Given the description of an element on the screen output the (x, y) to click on. 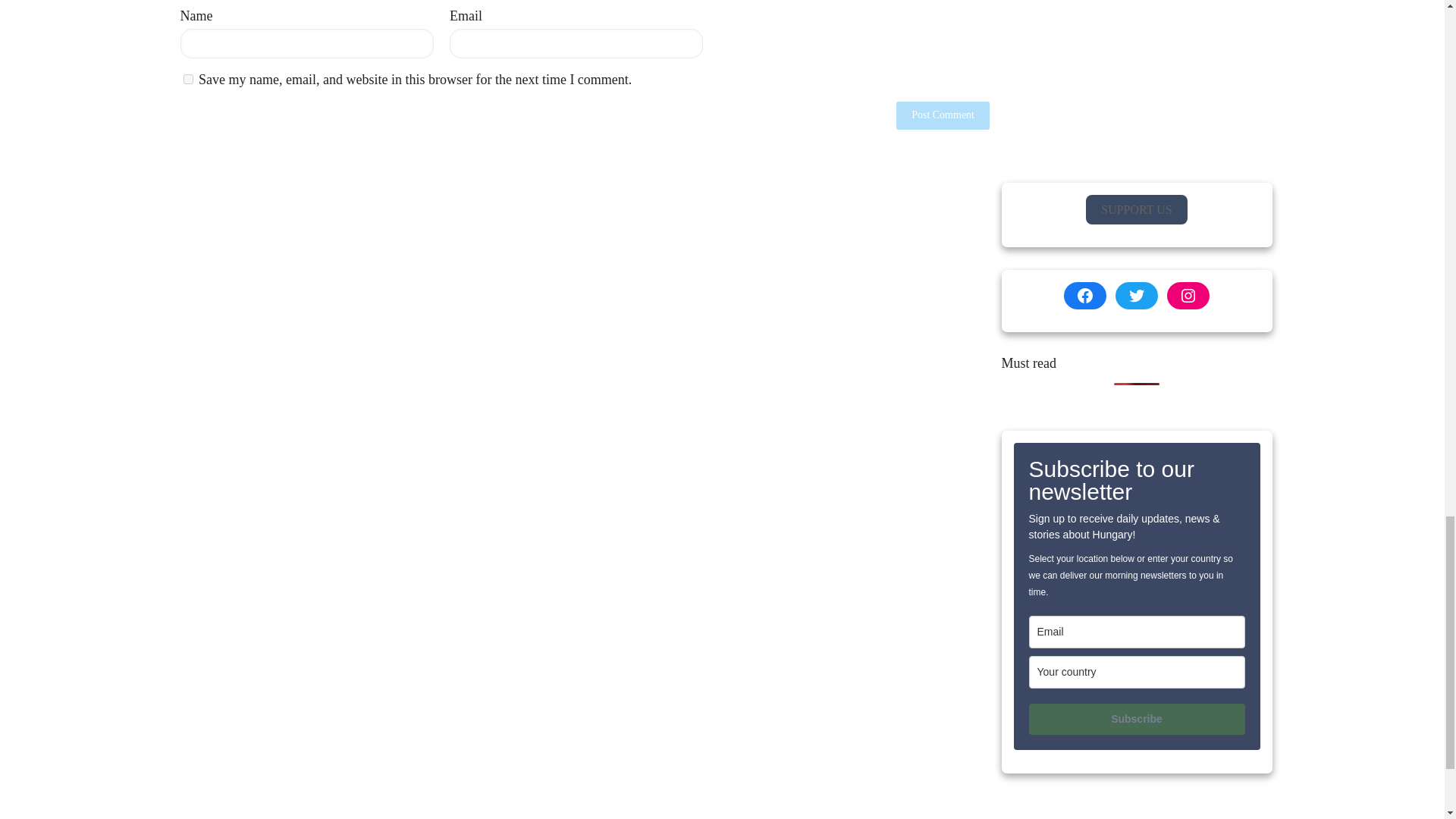
yes (188, 79)
Post Comment (943, 115)
